Given the description of an element on the screen output the (x, y) to click on. 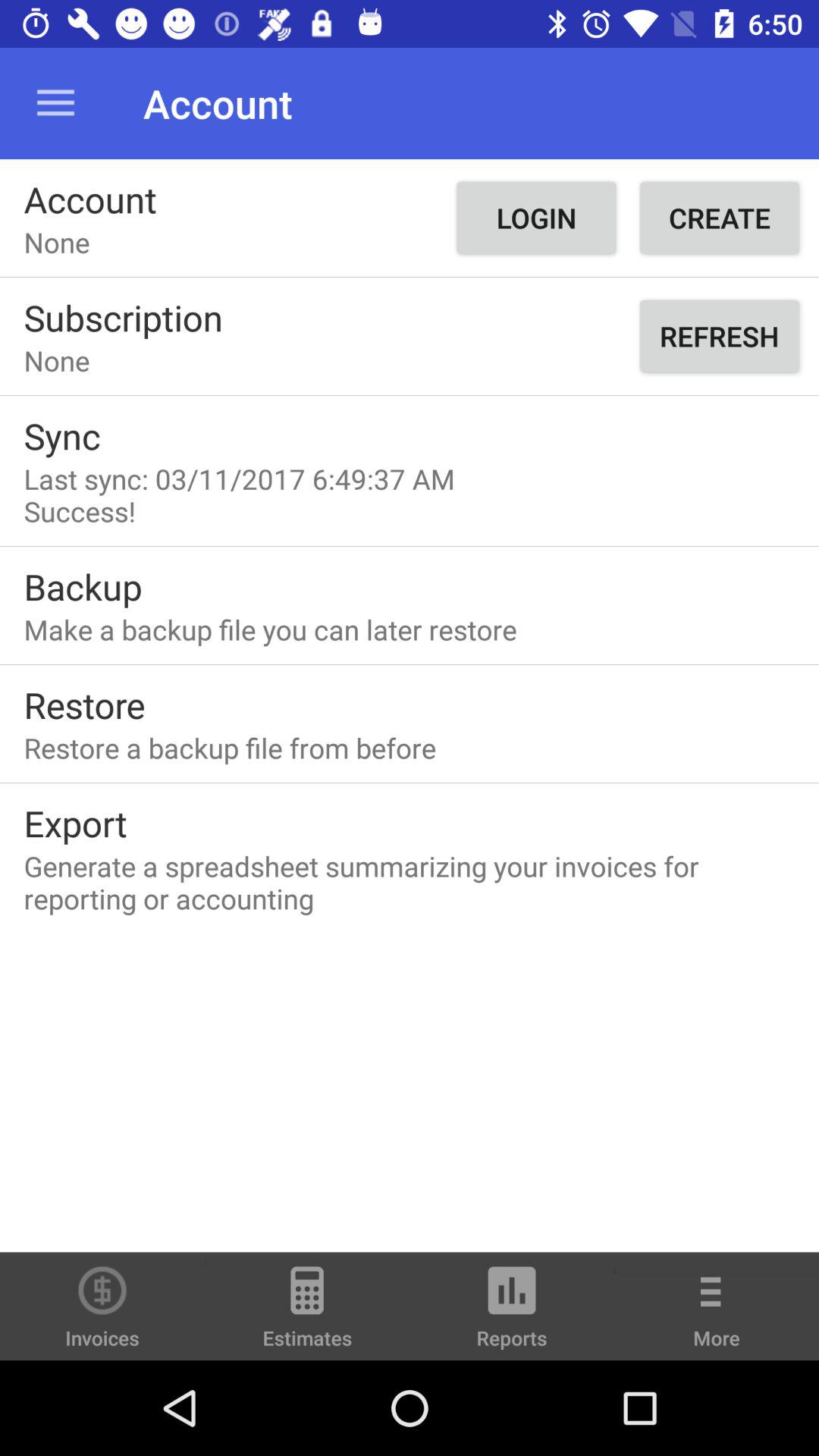
tap the icon next to account icon (55, 103)
